Given the description of an element on the screen output the (x, y) to click on. 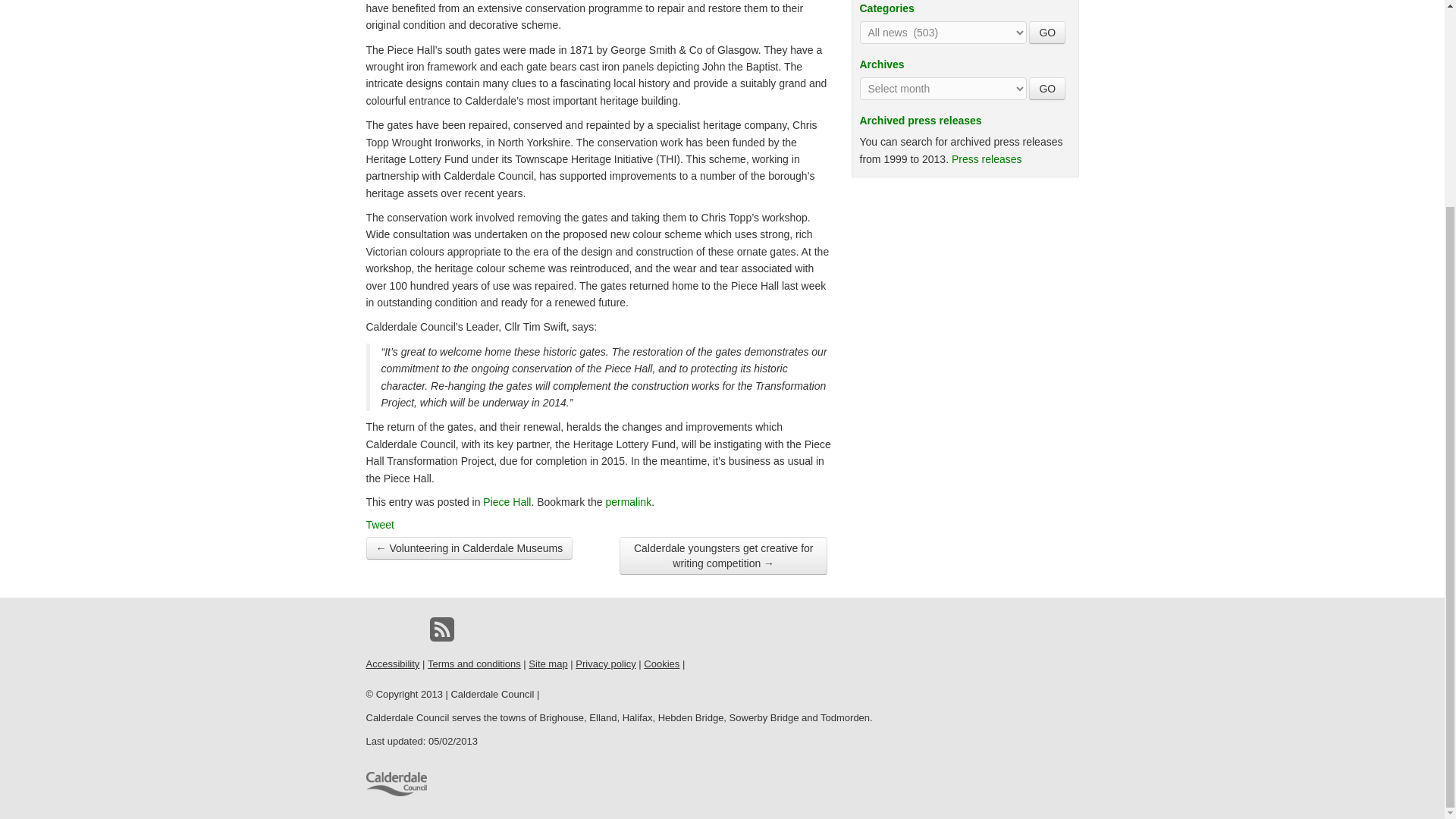
Press releases (987, 159)
Piece Hall (507, 501)
Accessibility (392, 663)
Tweet (379, 524)
permalink (627, 501)
Twitter (409, 629)
Permalink to Welcoming home the spectacular Piece Hall gates (627, 501)
RSS (440, 629)
GO (1047, 32)
GO (1047, 32)
GO (1047, 87)
Terms and conditions (474, 663)
Site map (547, 663)
Facebook (377, 629)
